Given the description of an element on the screen output the (x, y) to click on. 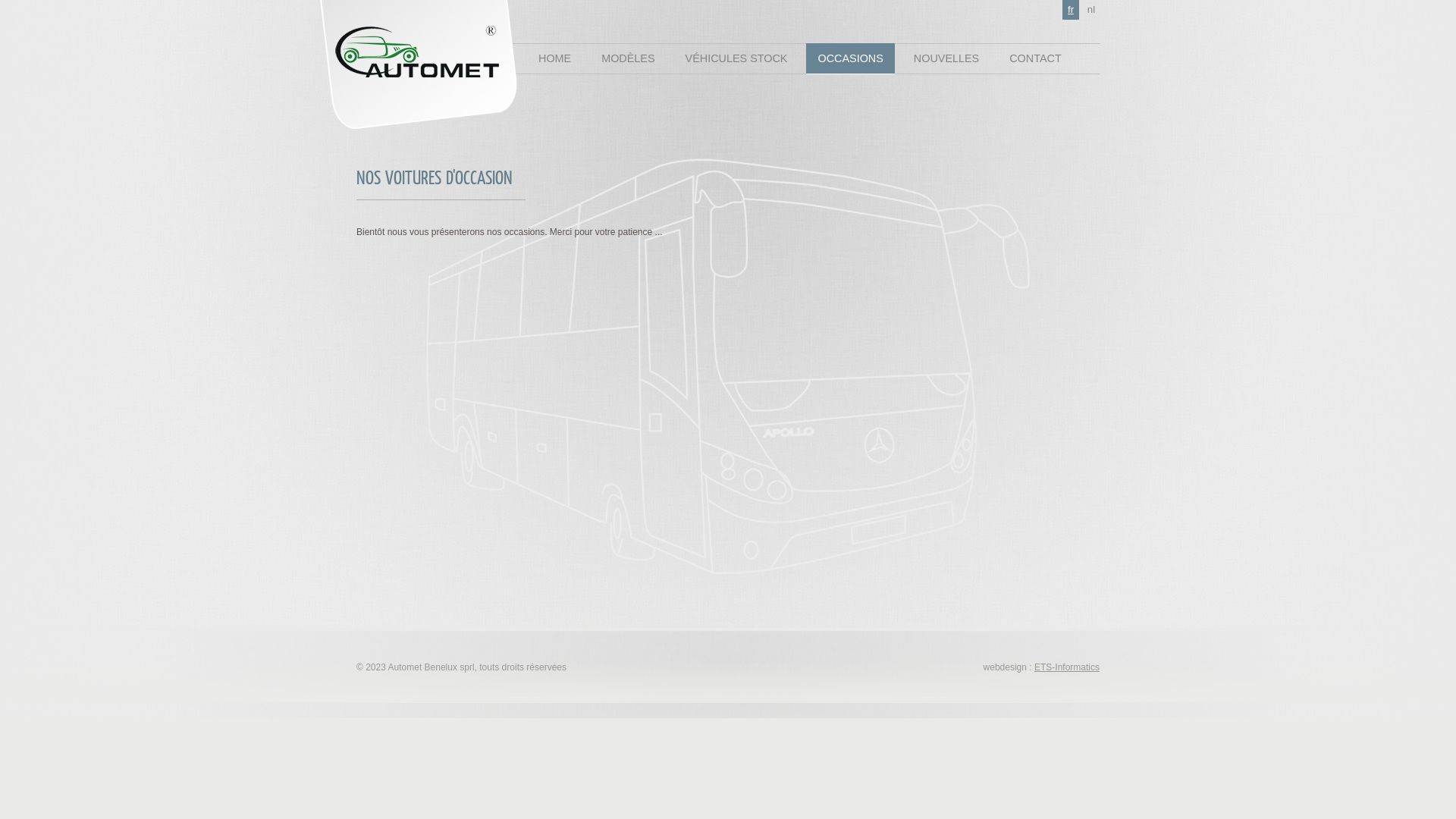
HOME Element type: text (554, 58)
ETS-Informatics Element type: text (1066, 667)
CONTACT Element type: text (1034, 58)
OCCASIONS Element type: text (850, 58)
fr Element type: text (1070, 9)
NOUVELLES Element type: text (946, 58)
homepage Automet Element type: hover (441, 62)
nl Element type: text (1090, 9)
